Given the description of an element on the screen output the (x, y) to click on. 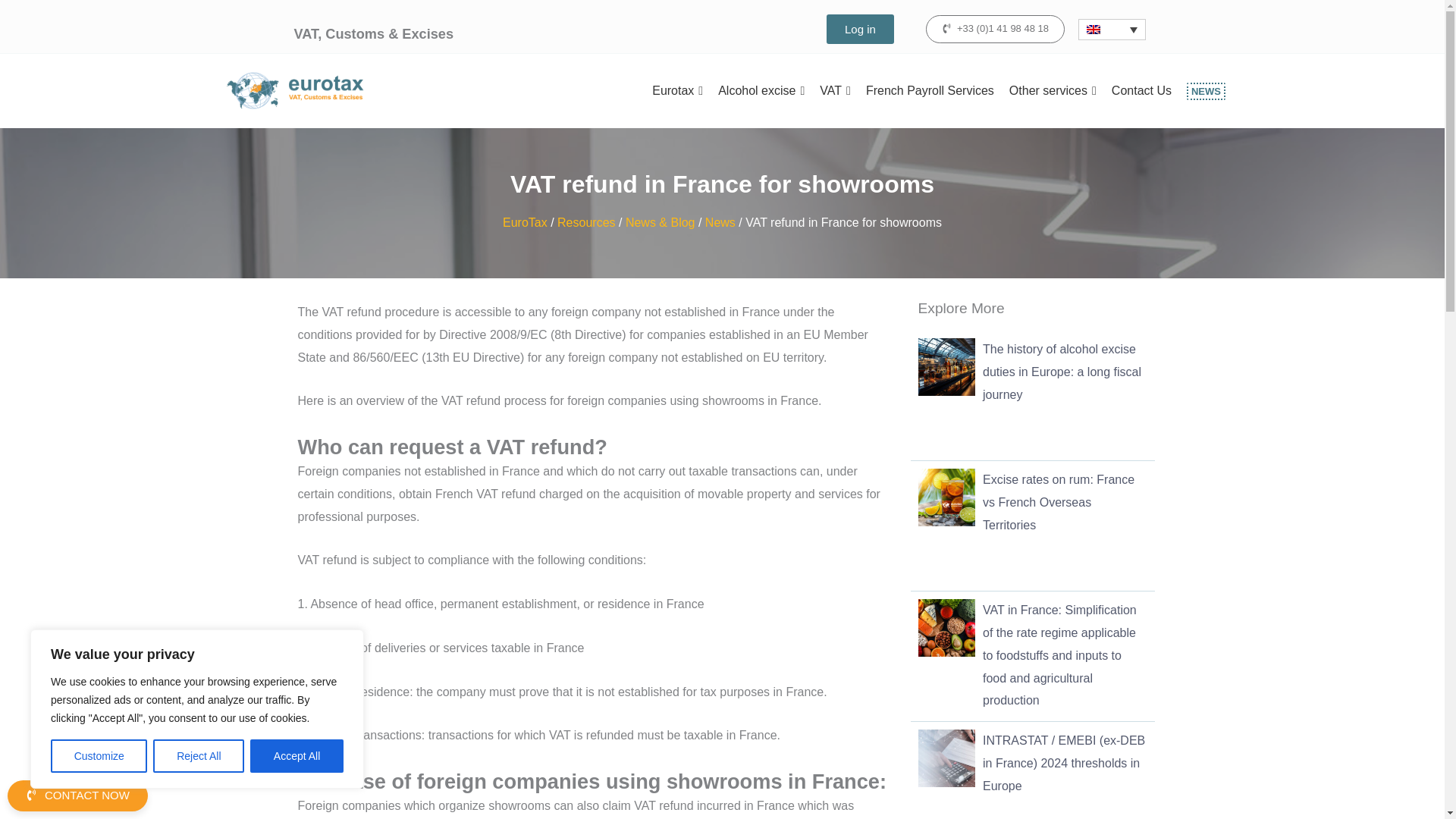
Go to Resources. (585, 222)
Accept All (296, 756)
Go to the News category archives. (719, 222)
Alcohol excise (761, 91)
Reject All (198, 756)
Go to Eurotax. (524, 222)
Log in (860, 29)
Customize (98, 756)
Eurotax (677, 91)
